Given the description of an element on the screen output the (x, y) to click on. 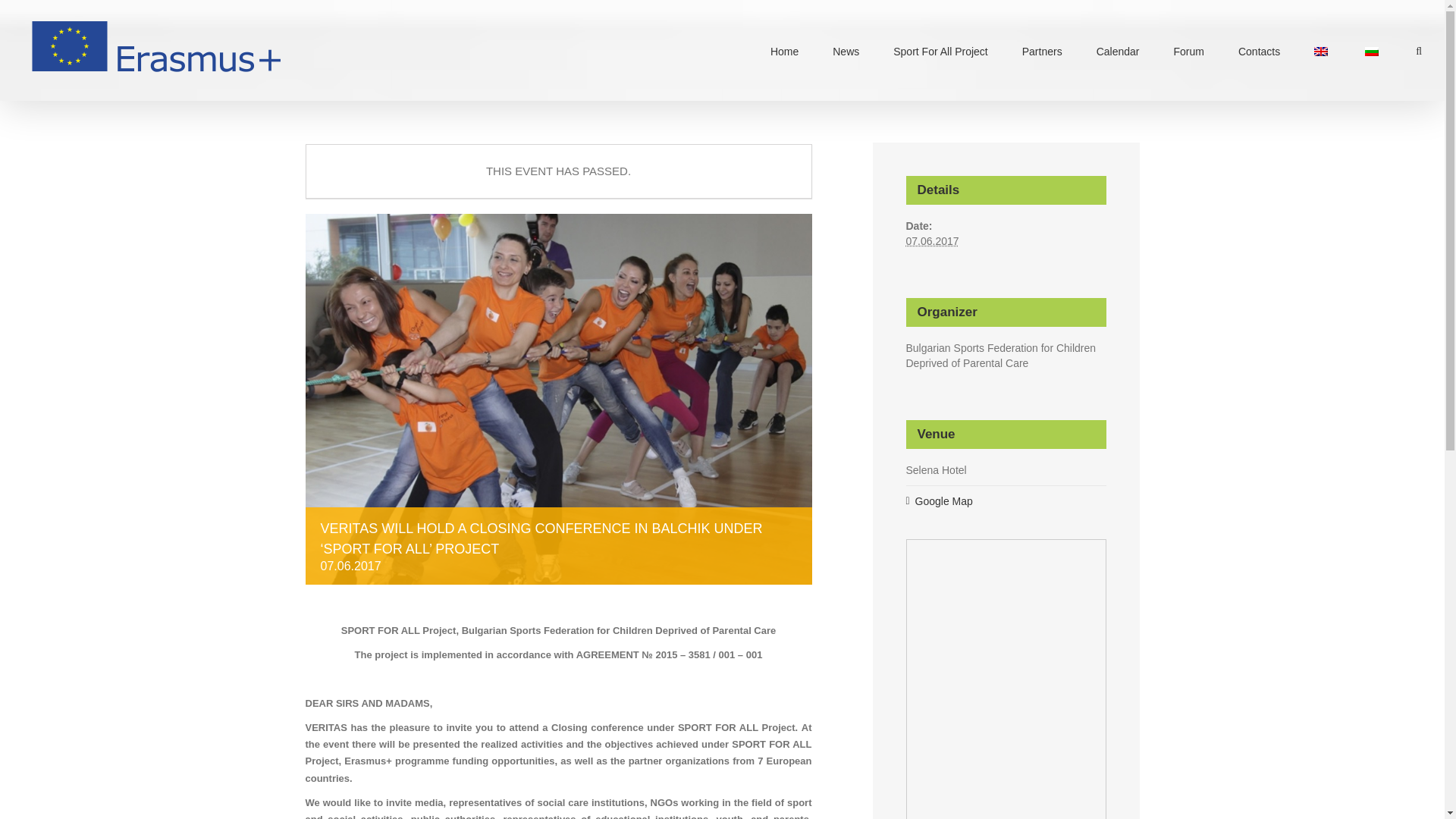
English (1320, 51)
2017-06-07 (931, 241)
Sport For All Project (940, 50)
